Given the description of an element on the screen output the (x, y) to click on. 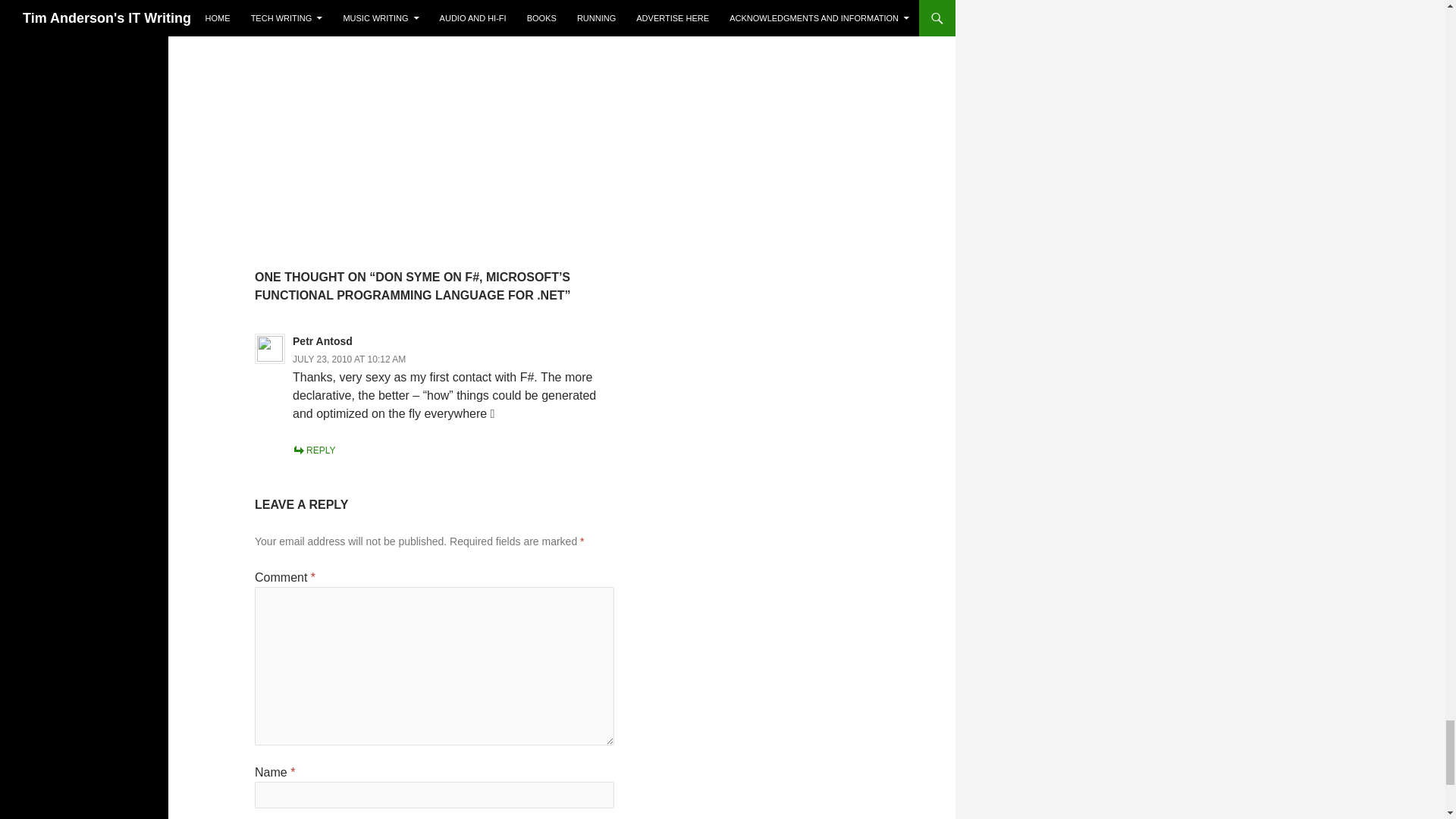
REPLY (313, 450)
JULY 23, 2010 AT 10:12 AM (349, 358)
